Given the description of an element on the screen output the (x, y) to click on. 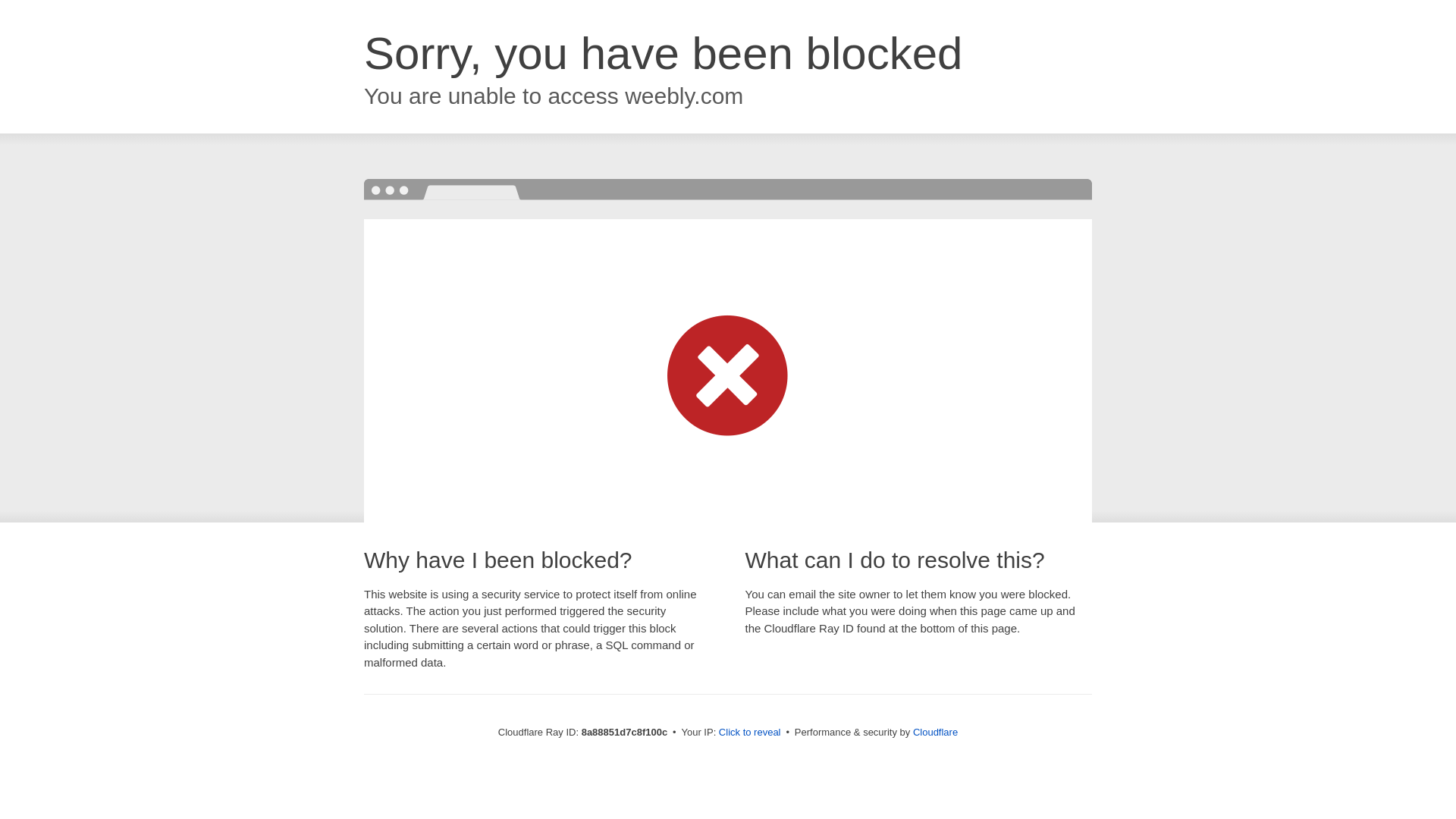
Cloudflare (935, 731)
Click to reveal (749, 732)
